Given the description of an element on the screen output the (x, y) to click on. 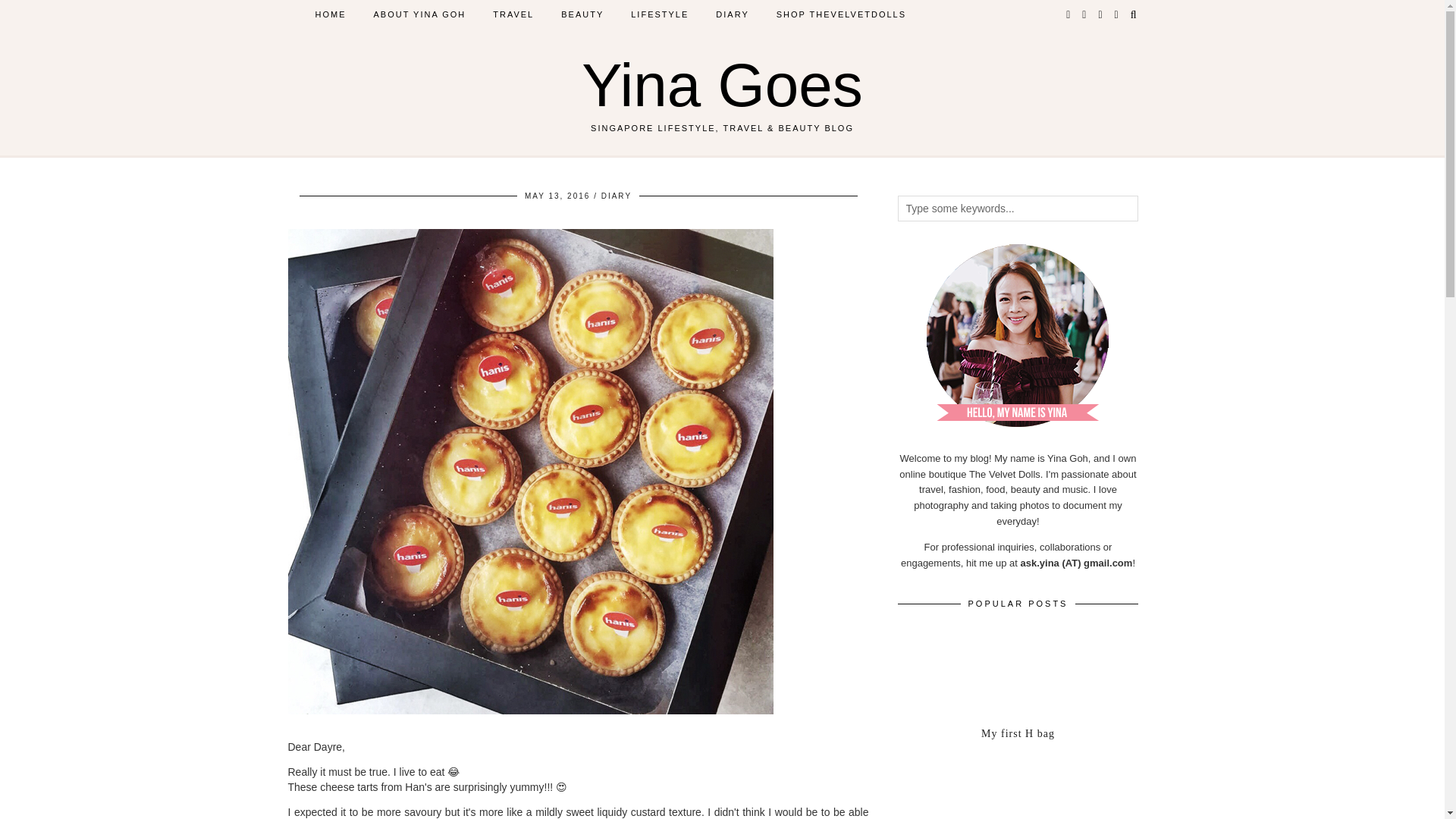
Yina Goes (721, 84)
ABOUT YINA GOH (419, 14)
TRAVEL (513, 14)
Yina Goes (721, 84)
HOME (330, 14)
